Given the description of an element on the screen output the (x, y) to click on. 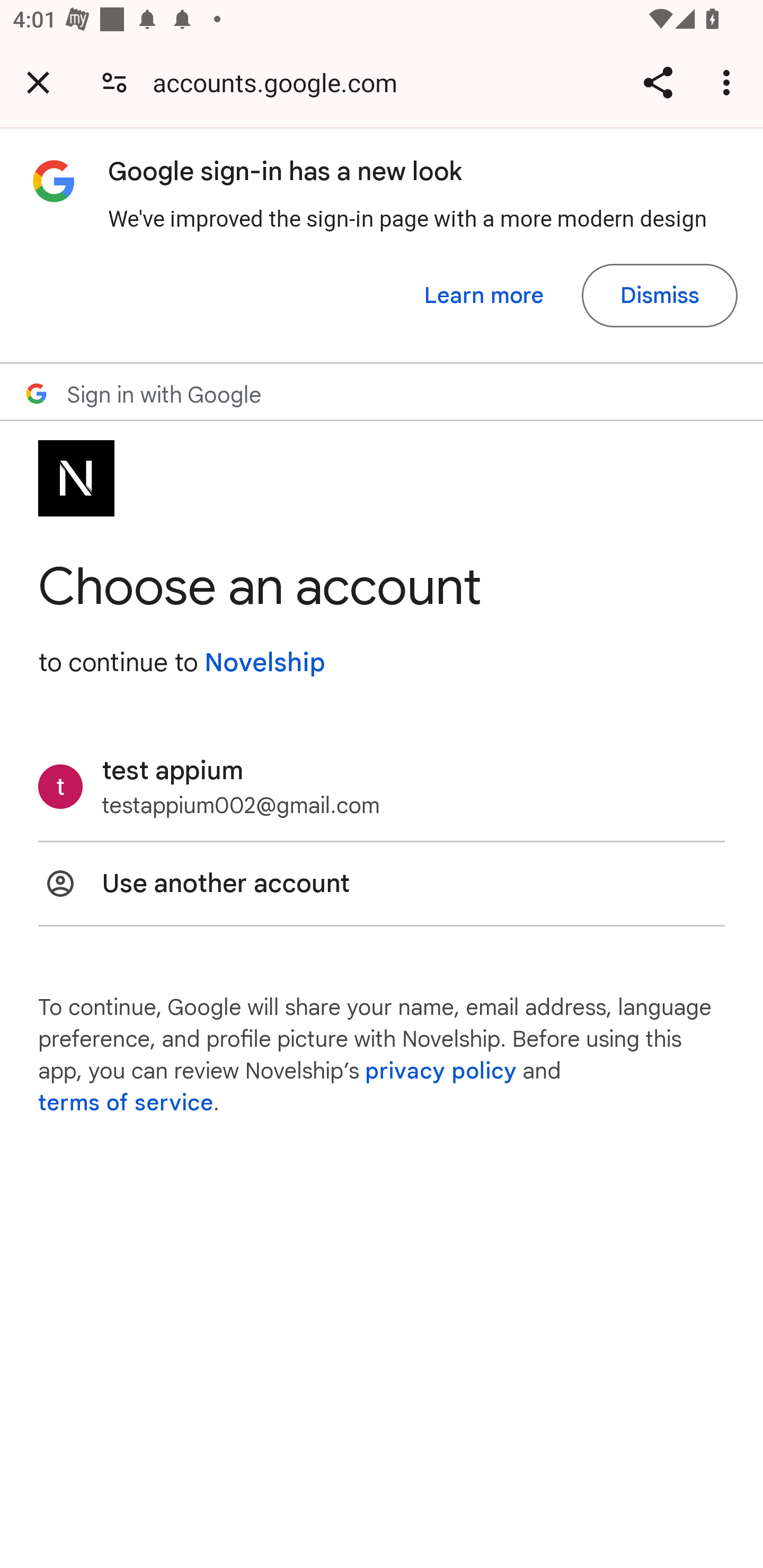
Close tab (38, 82)
Share (657, 82)
Customize and control Google Chrome (729, 82)
Connection is secure (114, 81)
accounts.google.com (281, 81)
Learn more (483, 295)
Dismiss (659, 295)
Novelship (264, 662)
Use another account (381, 883)
privacy policy (440, 1070)
terms of service (126, 1102)
